Given the description of an element on the screen output the (x, y) to click on. 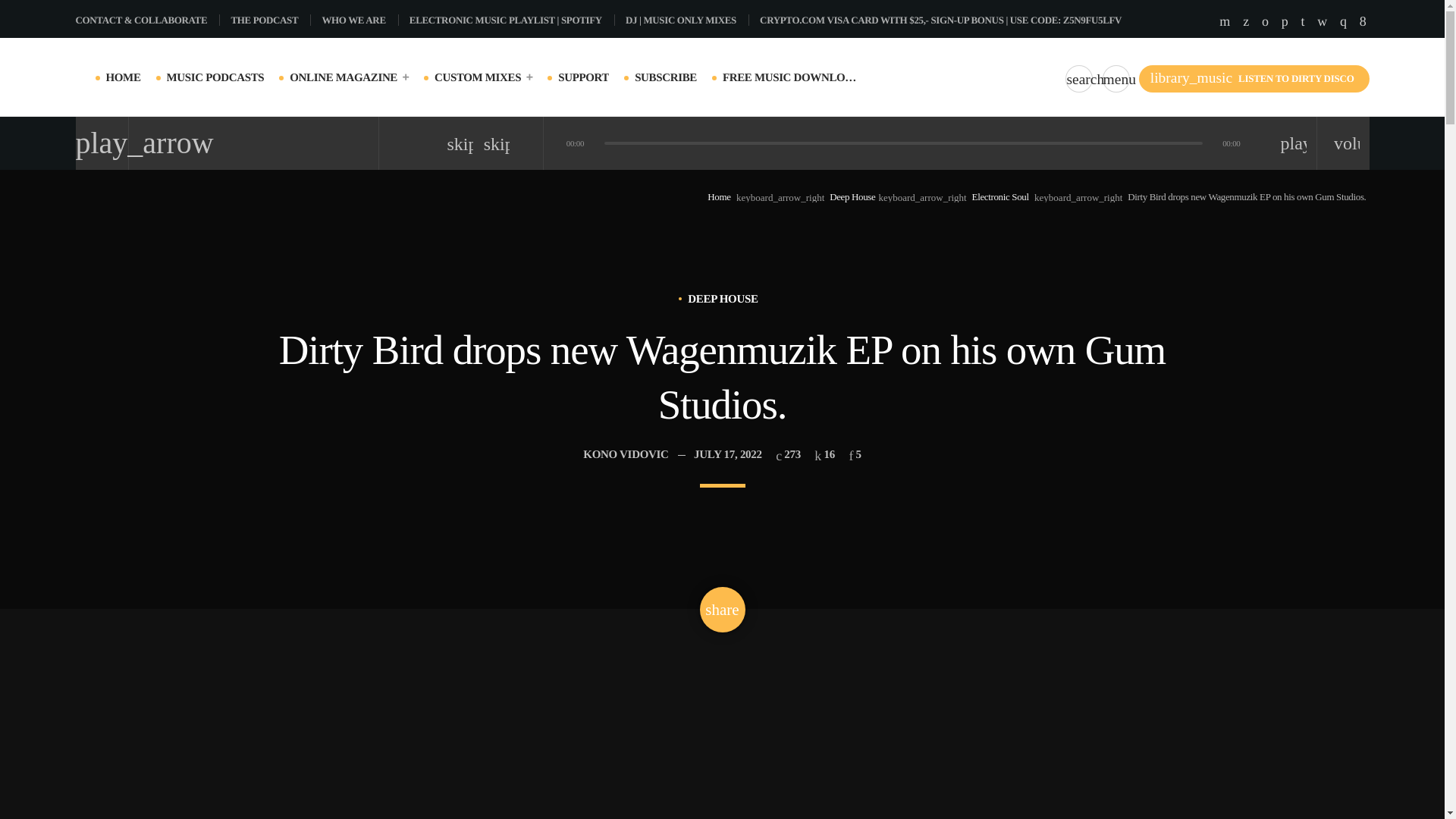
MUSIC PODCASTS (215, 77)
THE PODCAST (270, 19)
SUBSCRIBE (665, 77)
WHO WE ARE (359, 19)
CUSTOM MIXES (482, 77)
SUPPORT (582, 77)
ONLINE MAGAZINE (349, 77)
HOME (123, 77)
FREE MUSIC DOWNLOADS (790, 77)
